Given the description of an element on the screen output the (x, y) to click on. 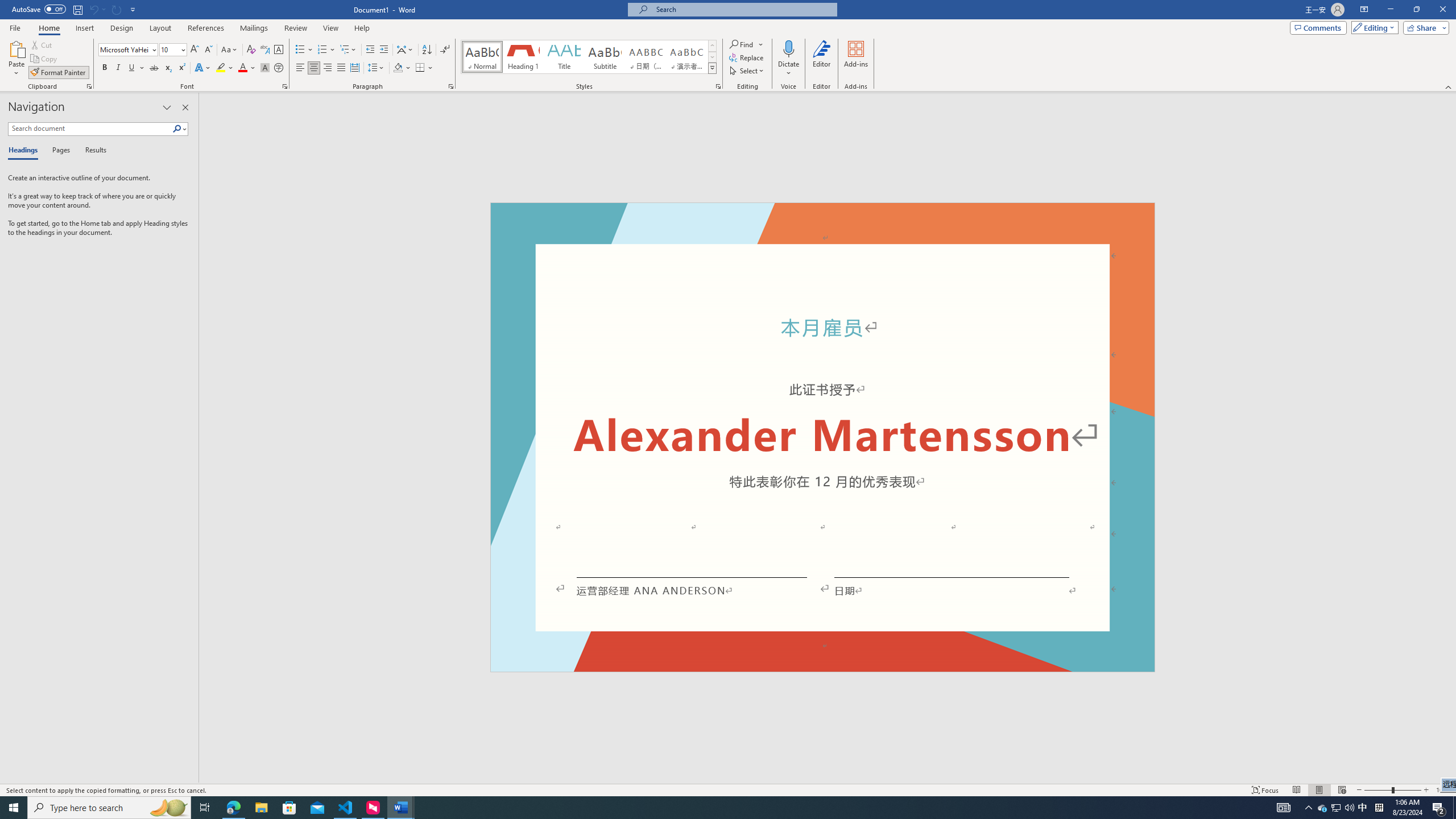
Font Size (169, 49)
Open (182, 49)
Focus  (1265, 790)
Clear Formatting (250, 49)
AutomationID: QuickStylesGallery (588, 56)
Text Effects and Typography (202, 67)
Strikethrough (154, 67)
Customize Quick Access Toolbar (133, 9)
Font... (285, 85)
Text Highlight Color Yellow (220, 67)
Character Border (278, 49)
Character Shading (264, 67)
More Options (788, 68)
